Given the description of an element on the screen output the (x, y) to click on. 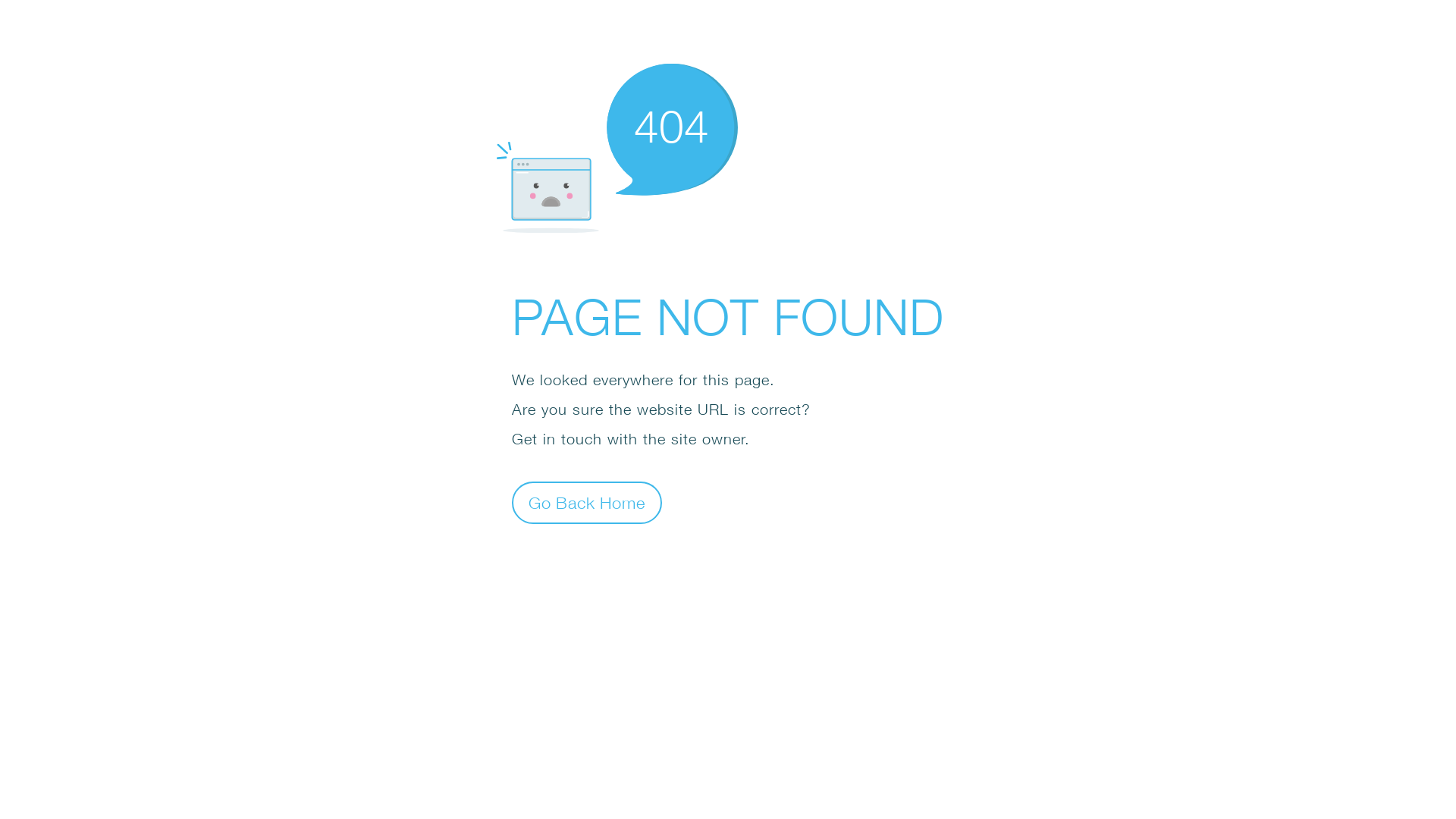
Go Back Home Element type: text (586, 502)
